Given the description of an element on the screen output the (x, y) to click on. 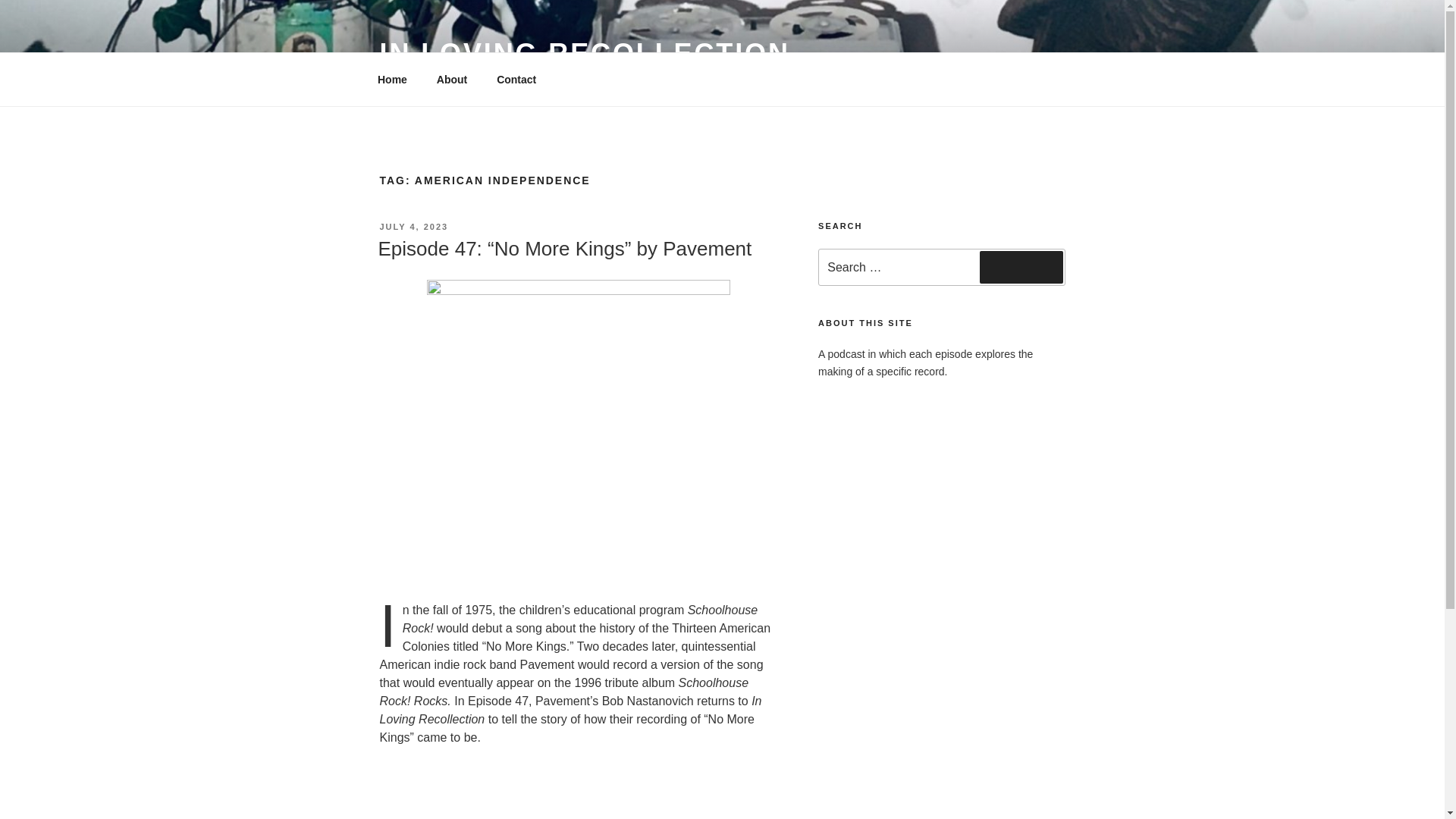
About (451, 78)
Contact (516, 78)
IN LOVING RECOLLECTION (583, 52)
Search (1020, 266)
Home (392, 78)
JULY 4, 2023 (413, 225)
